Given the description of an element on the screen output the (x, y) to click on. 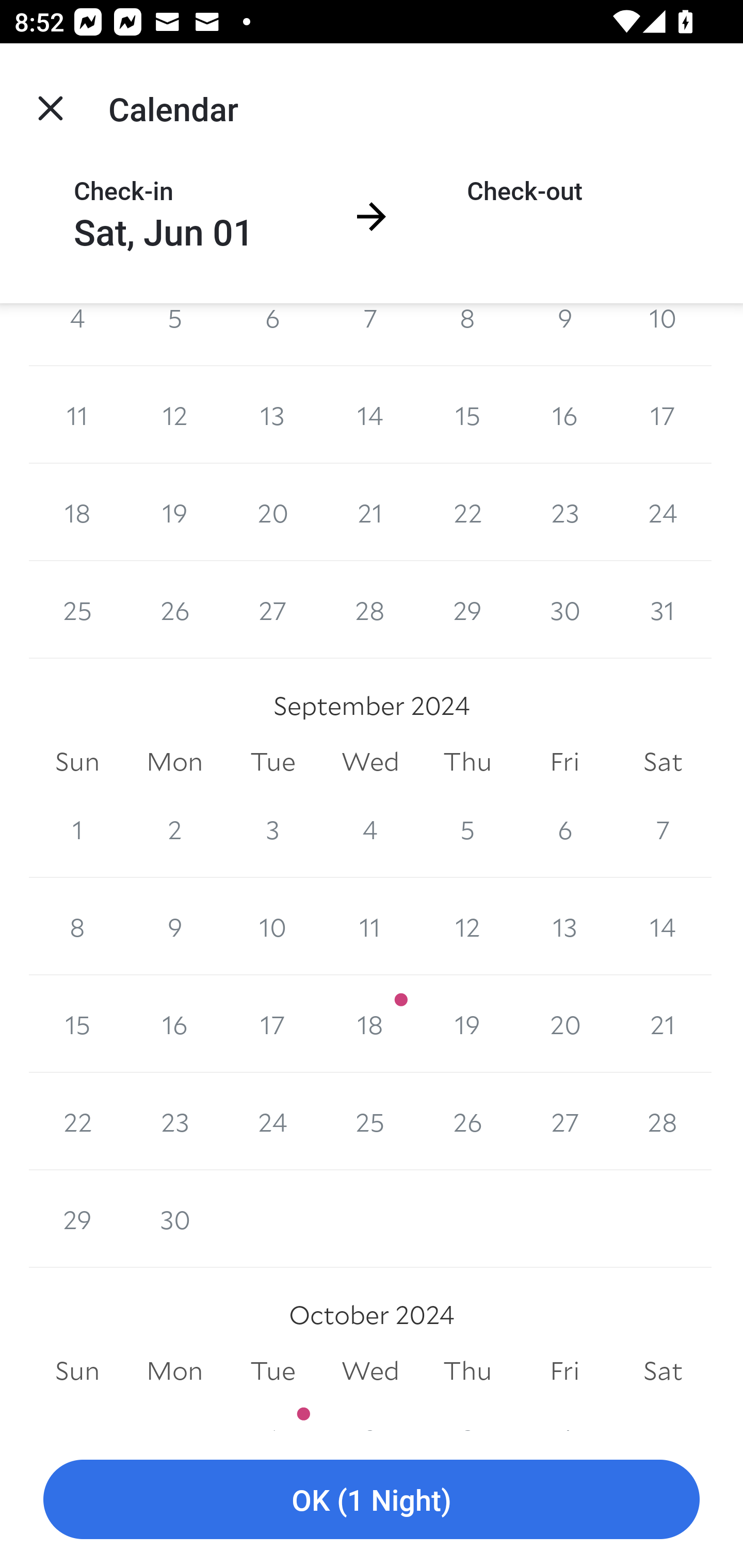
4 4 August 2024 (77, 334)
5 5 August 2024 (174, 334)
6 6 August 2024 (272, 334)
7 7 August 2024 (370, 334)
8 8 August 2024 (467, 334)
9 9 August 2024 (564, 334)
10 10 August 2024 (662, 334)
11 11 August 2024 (77, 415)
12 12 August 2024 (174, 415)
13 13 August 2024 (272, 415)
14 14 August 2024 (370, 415)
15 15 August 2024 (467, 415)
16 16 August 2024 (564, 415)
17 17 August 2024 (662, 415)
18 18 August 2024 (77, 512)
19 19 August 2024 (174, 512)
20 20 August 2024 (272, 512)
21 21 August 2024 (370, 512)
22 22 August 2024 (467, 512)
23 23 August 2024 (564, 512)
24 24 August 2024 (662, 512)
25 25 August 2024 (77, 609)
26 26 August 2024 (174, 609)
27 27 August 2024 (272, 609)
28 28 August 2024 (370, 609)
29 29 August 2024 (467, 609)
30 30 August 2024 (564, 609)
31 31 August 2024 (662, 609)
Sun (77, 761)
Mon (174, 761)
Tue (272, 761)
Wed (370, 761)
Thu (467, 761)
Fri (564, 761)
Sat (662, 761)
1 1 September 2024 (77, 829)
2 2 September 2024 (174, 829)
3 3 September 2024 (272, 829)
4 4 September 2024 (370, 829)
5 5 September 2024 (467, 829)
6 6 September 2024 (564, 829)
7 7 September 2024 (662, 829)
8 8 September 2024 (77, 926)
9 9 September 2024 (174, 926)
10 10 September 2024 (272, 926)
11 11 September 2024 (370, 926)
12 12 September 2024 (467, 926)
13 13 September 2024 (564, 926)
14 14 September 2024 (662, 926)
15 15 September 2024 (77, 1023)
16 16 September 2024 (174, 1023)
17 17 September 2024 (272, 1023)
18 18 September 2024 (370, 1023)
19 19 September 2024 (467, 1023)
20 20 September 2024 (564, 1023)
21 21 September 2024 (662, 1023)
22 22 September 2024 (77, 1120)
23 23 September 2024 (174, 1120)
24 24 September 2024 (272, 1120)
25 25 September 2024 (370, 1120)
26 26 September 2024 (467, 1120)
27 27 September 2024 (564, 1120)
28 28 September 2024 (662, 1120)
29 29 September 2024 (77, 1218)
30 30 September 2024 (174, 1218)
Sun (77, 1370)
Mon (174, 1370)
Tue (272, 1370)
Wed (370, 1370)
Thu (467, 1370)
Fri (564, 1370)
Sat (662, 1370)
OK (1 Night) (371, 1499)
